Given the description of an element on the screen output the (x, y) to click on. 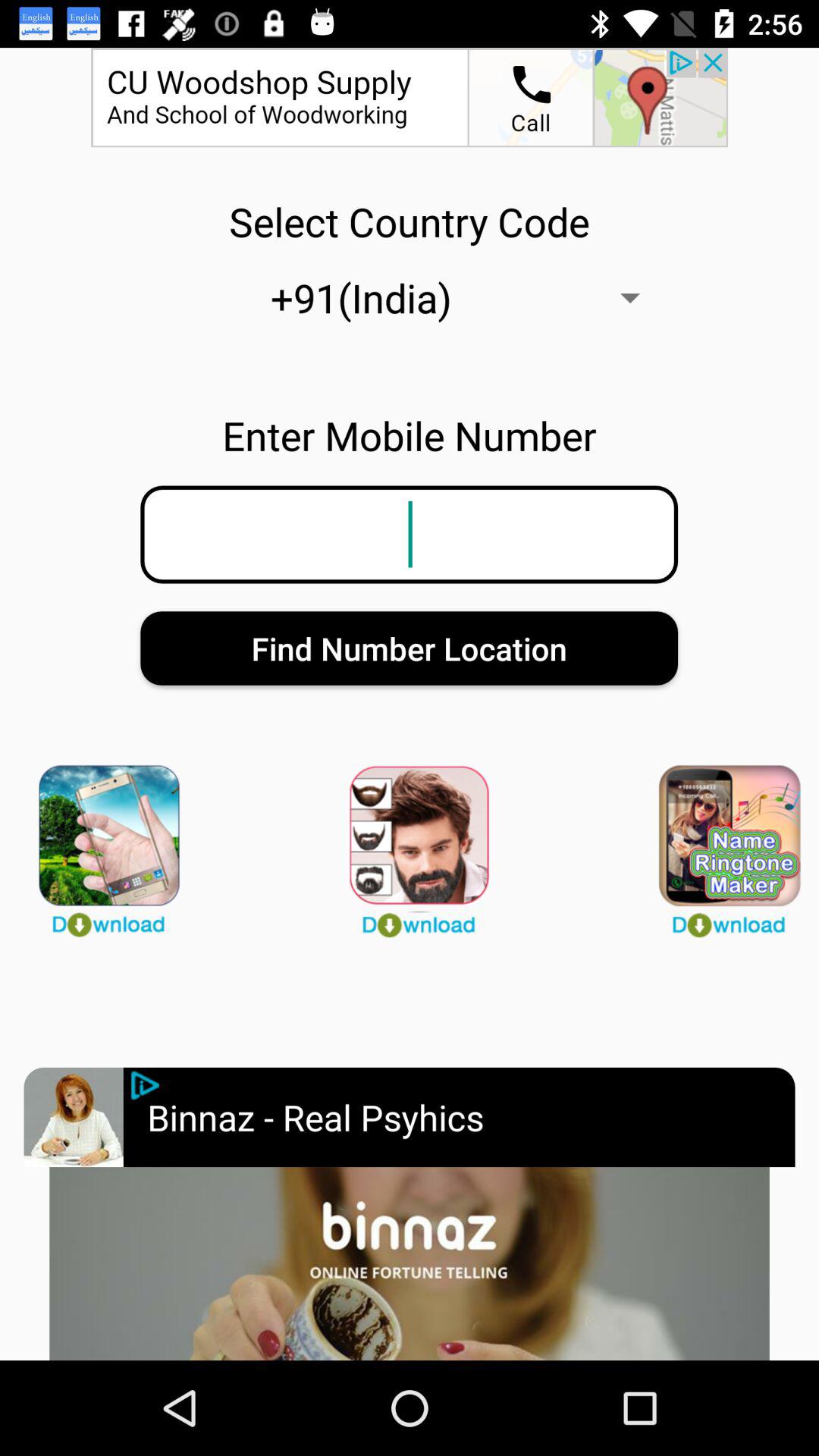
go to advertainment (409, 1263)
